Given the description of an element on the screen output the (x, y) to click on. 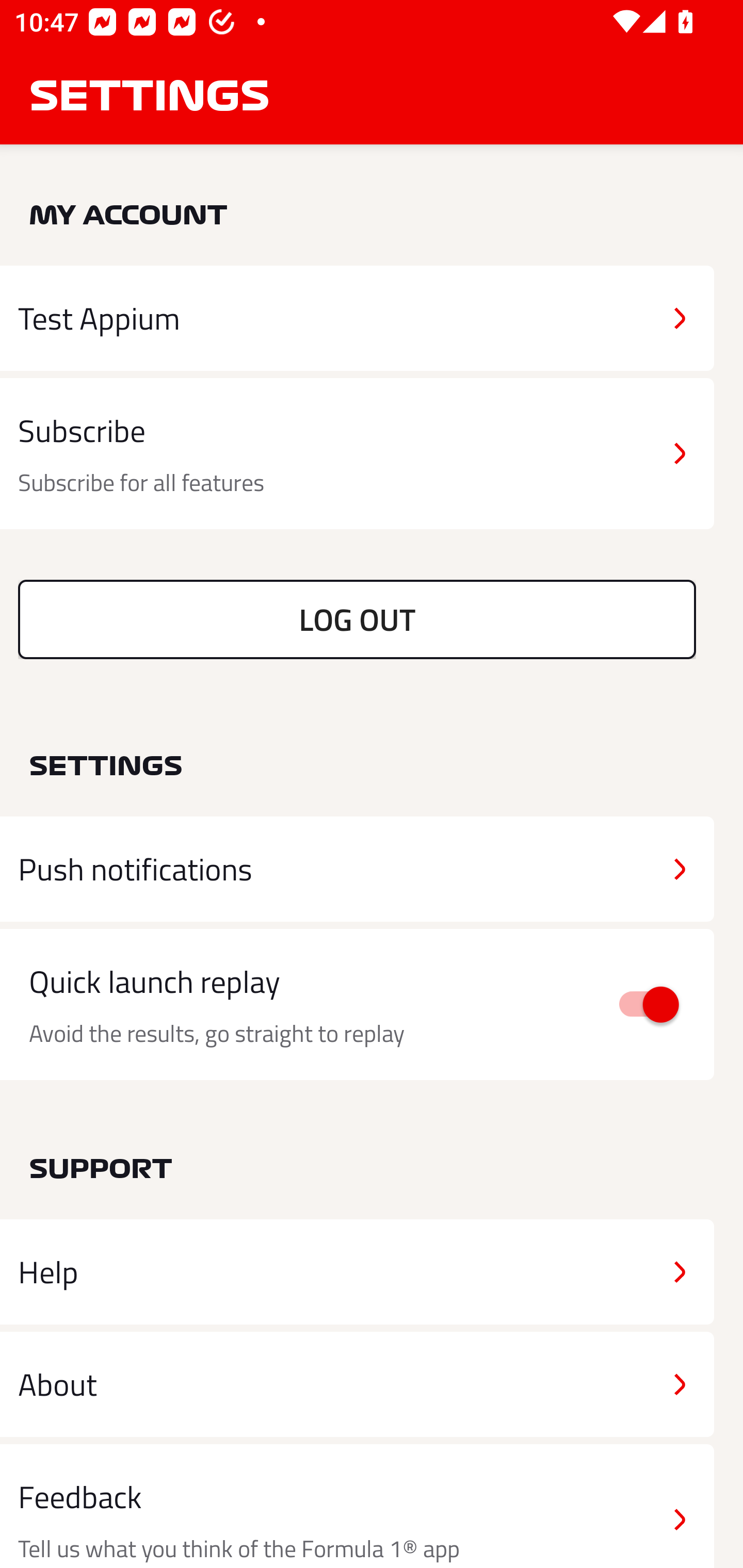
Test Appium (357, 317)
Subscribe Subscribe for all features (357, 453)
LOG OUT (356, 619)
Push notifications (357, 868)
Help (357, 1271)
About (357, 1383)
